Given the description of an element on the screen output the (x, y) to click on. 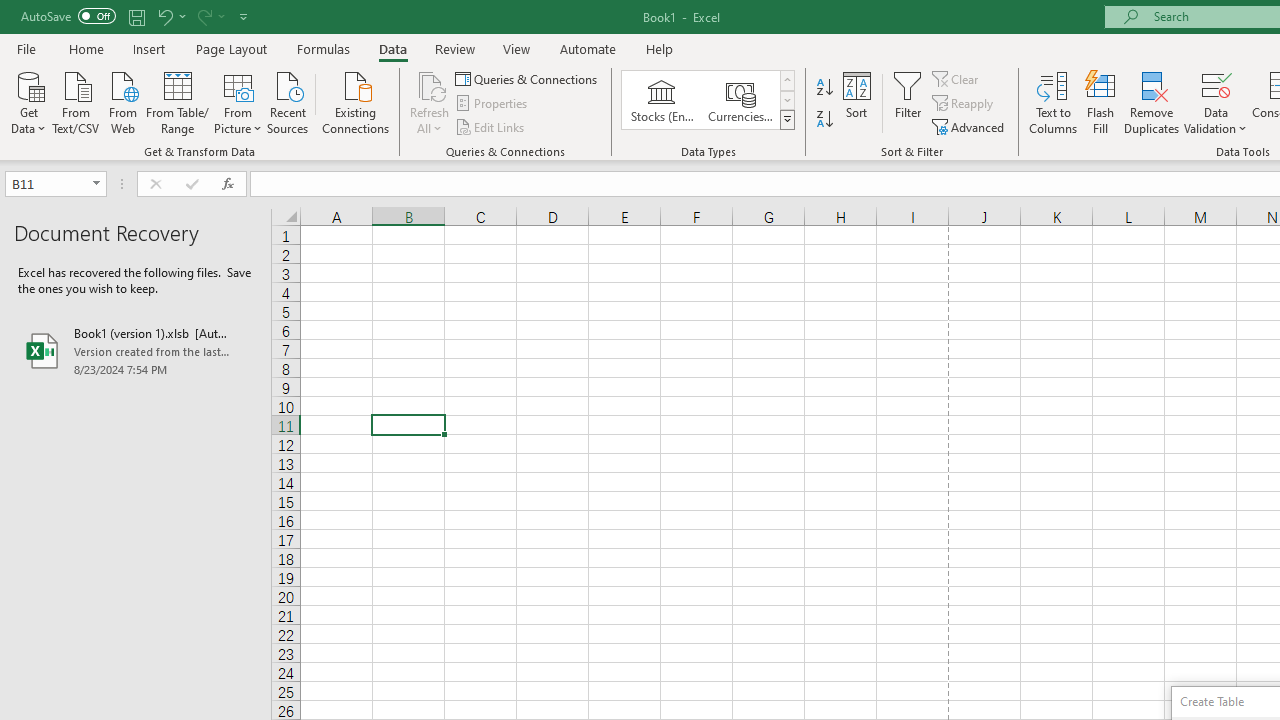
Redo (209, 15)
File Tab (26, 48)
Row up (786, 79)
Customize Quick Access Toolbar (244, 15)
Open (96, 183)
Page Layout (230, 48)
Home (86, 48)
Filter (908, 102)
Data Validation... (1215, 102)
Edit Links (491, 126)
More Options (1215, 121)
Text to Columns... (1053, 102)
Refresh All (429, 84)
Formulas (323, 48)
Existing Connections (355, 101)
